Given the description of an element on the screen output the (x, y) to click on. 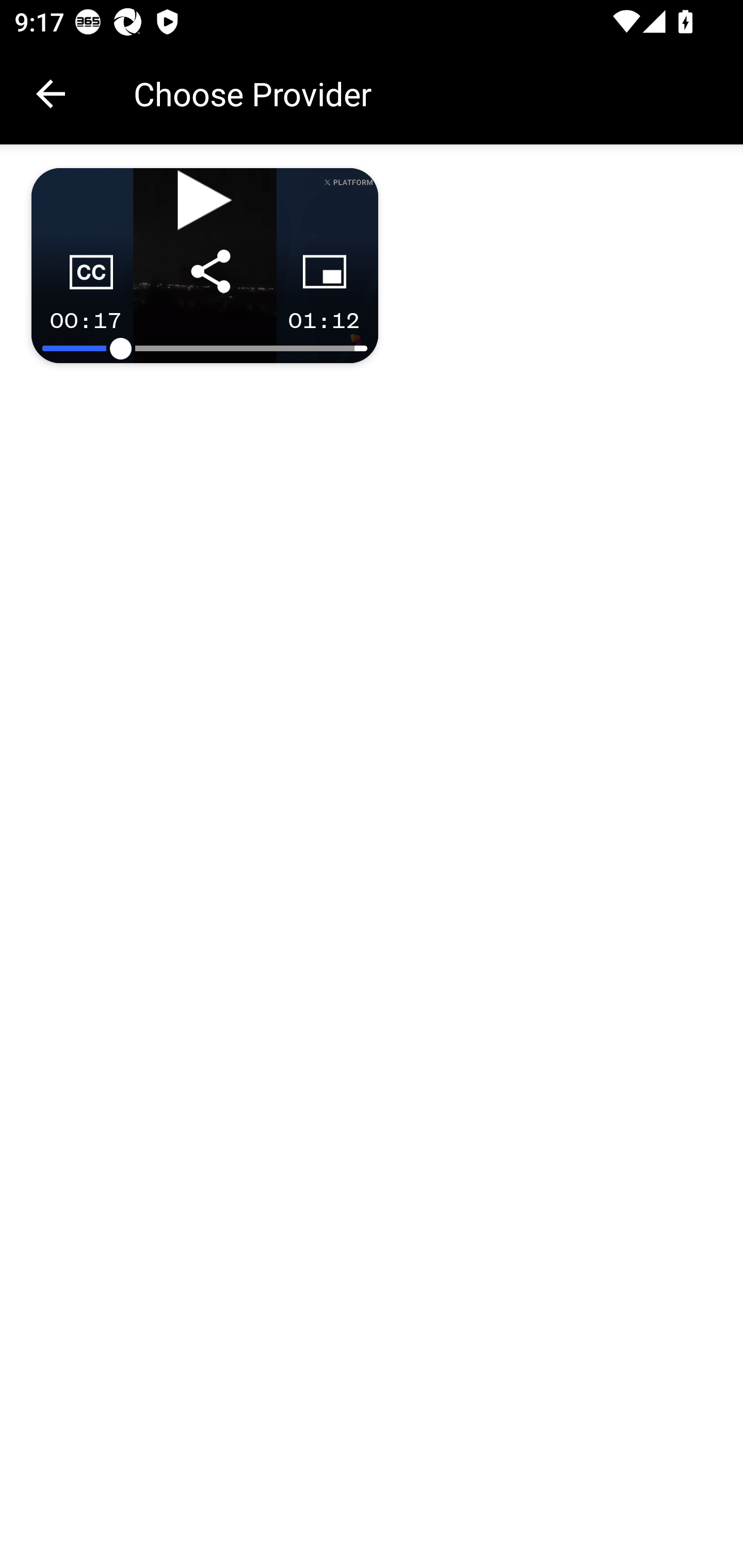
Navigate up (50, 93)
